Given the description of an element on the screen output the (x, y) to click on. 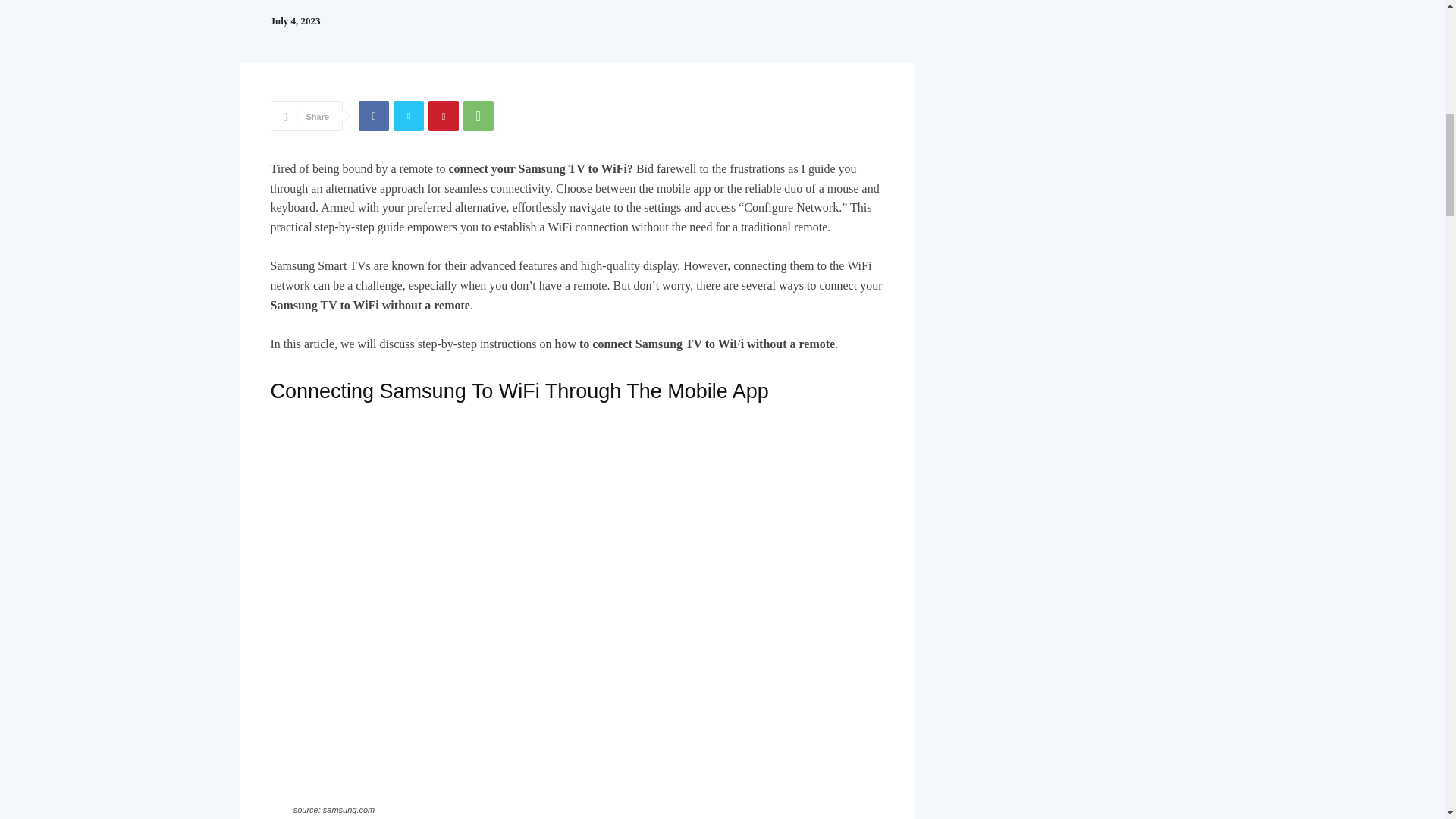
Pinterest (443, 115)
Facebook (373, 115)
WhatsApp (478, 115)
Twitter (408, 115)
